Given the description of an element on the screen output the (x, y) to click on. 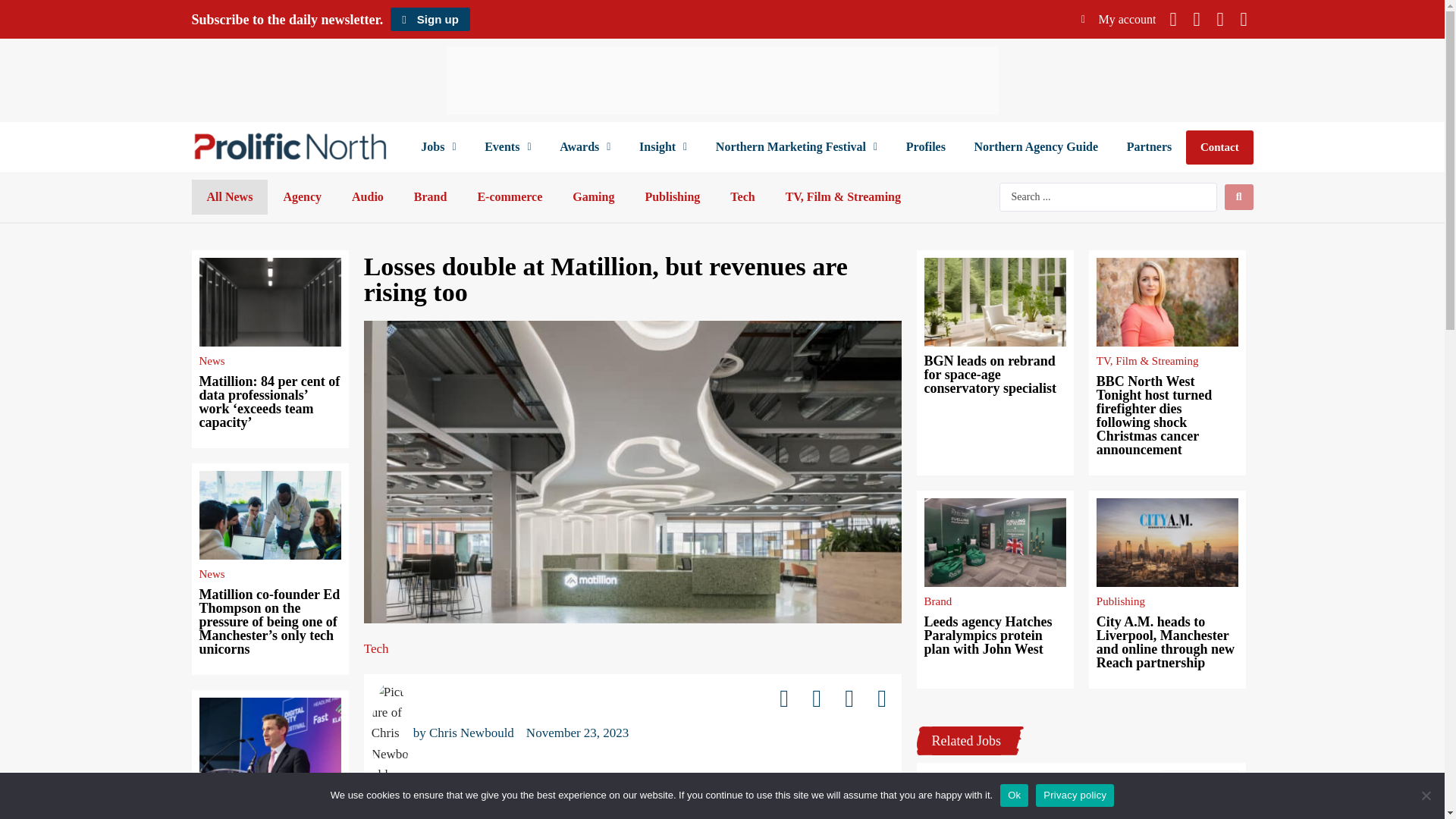
Sign up (429, 19)
Events (507, 146)
Awards (584, 146)
My account (1118, 19)
Jobs (438, 146)
No (1425, 795)
